Given the description of an element on the screen output the (x, y) to click on. 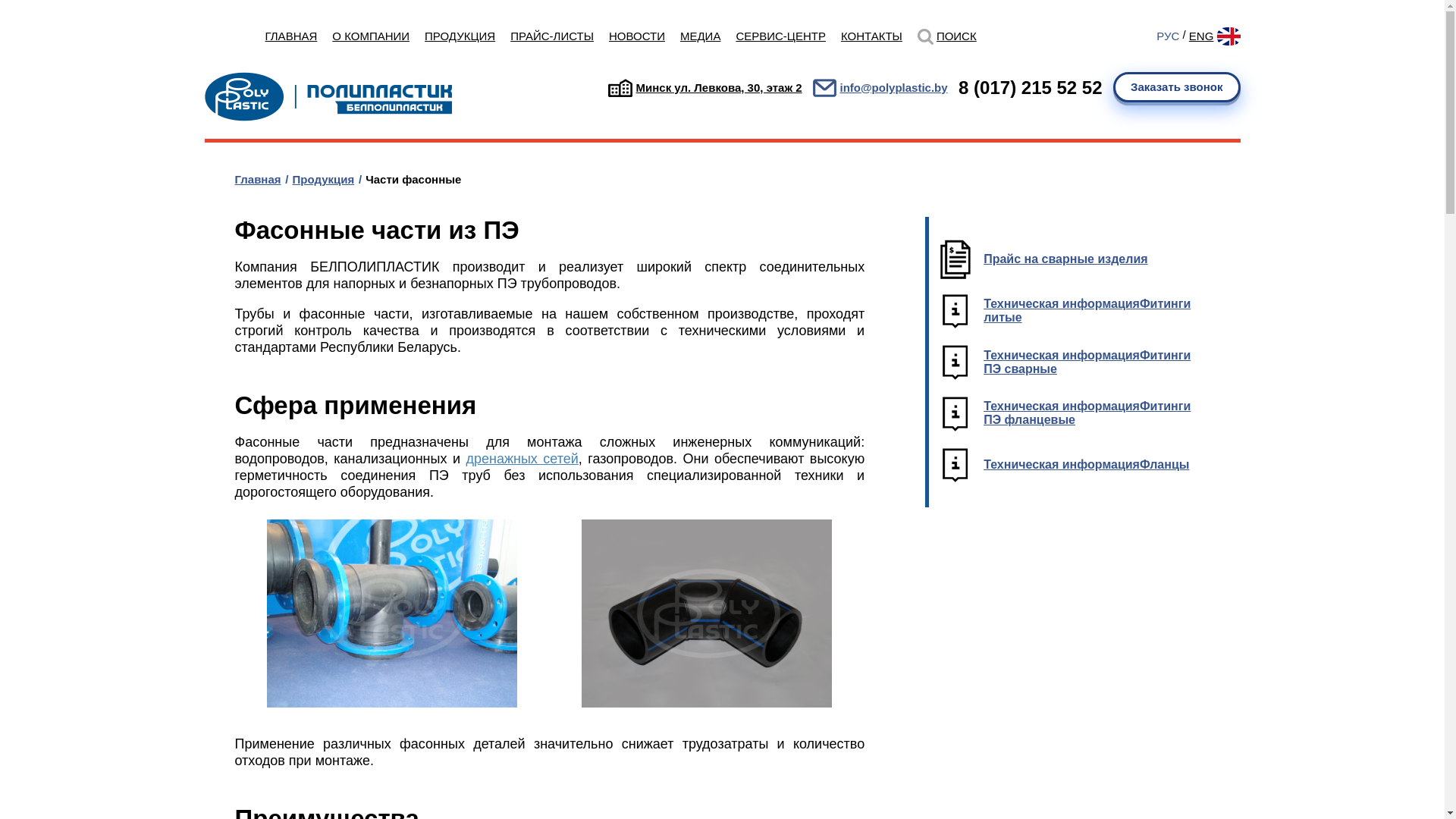
ENG Element type: text (1201, 35)
info@polyplastic.by Element type: text (893, 87)
Eng Element type: hover (1227, 36)
